Given the description of an element on the screen output the (x, y) to click on. 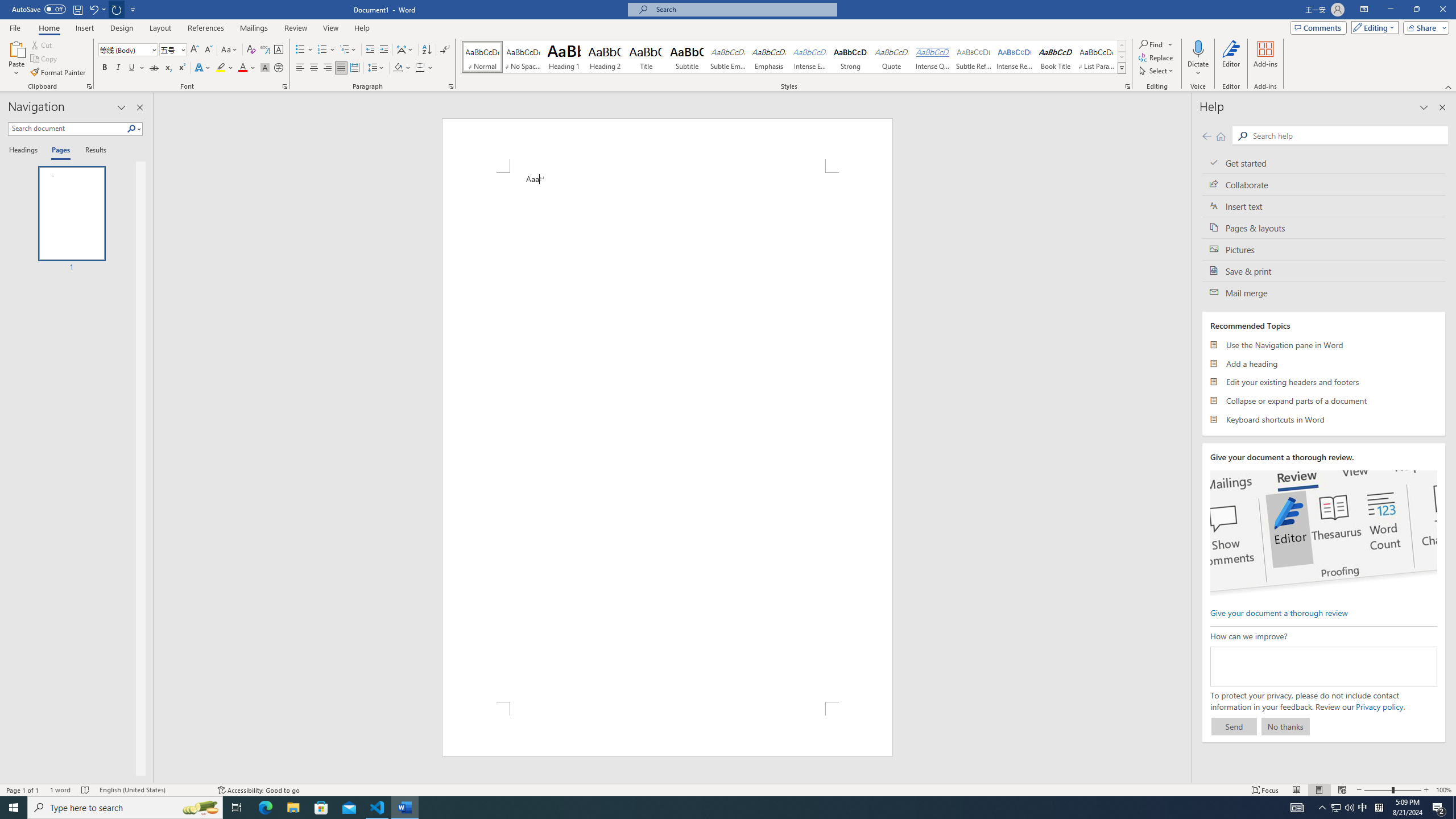
Class: NetUIScrollBar (1186, 437)
Strikethrough (154, 67)
Emphasis (768, 56)
Decrease Indent (370, 49)
Justify (340, 67)
More Options (1197, 68)
Dictate (1197, 58)
Change Case (229, 49)
Read Mode (1296, 790)
How can we improve? (1323, 666)
AutomationID: QuickStylesGallery (794, 56)
Repeat Style (117, 9)
Text Effects and Typography (202, 67)
Underline (136, 67)
